Given the description of an element on the screen output the (x, y) to click on. 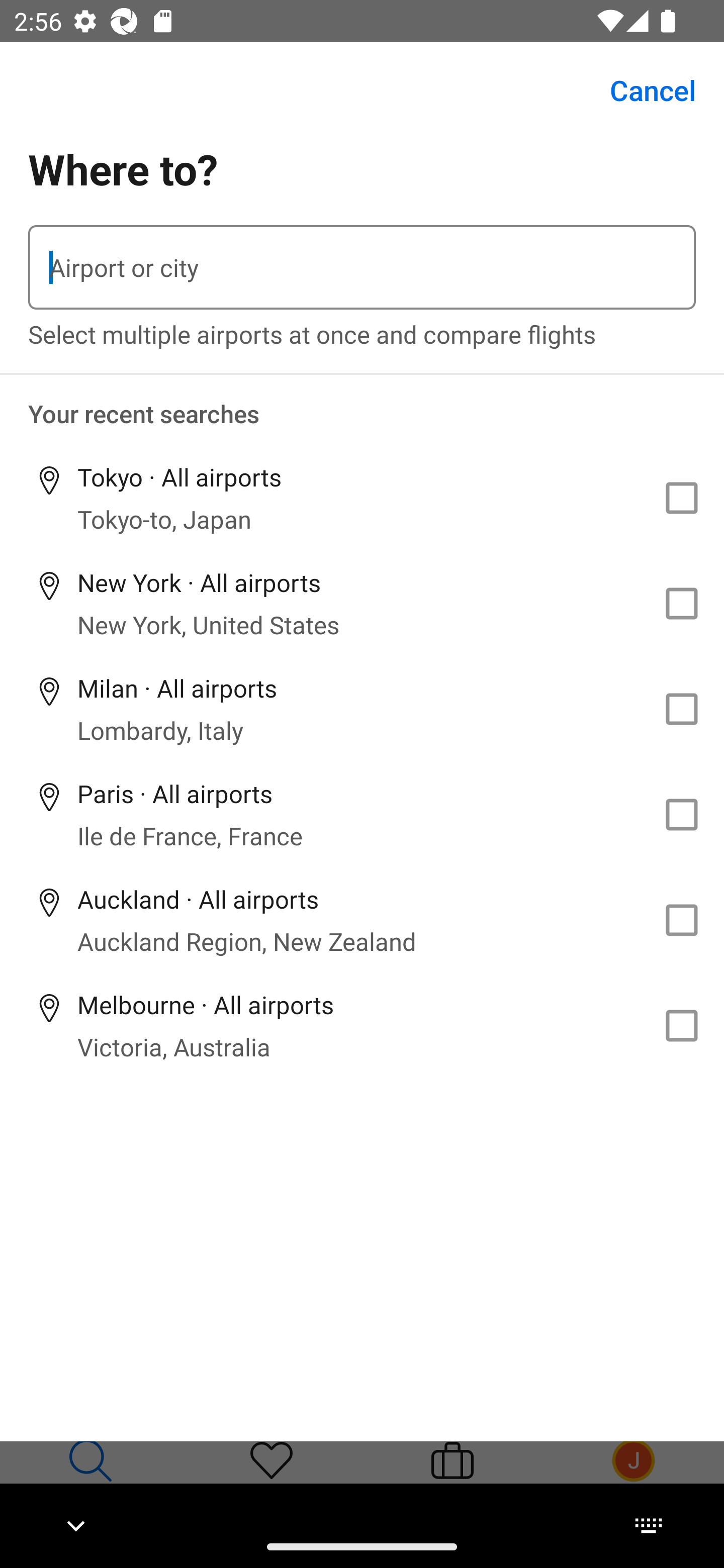
Cancel (641, 90)
Airport or city (361, 266)
Tokyo · All airports Tokyo-to, Japan (362, 497)
New York · All airports New York, United States (362, 603)
Milan · All airports Lombardy, Italy (362, 709)
Paris · All airports Ile de France, France (362, 814)
Melbourne · All airports Victoria, Australia (362, 1025)
